Given the description of an element on the screen output the (x, y) to click on. 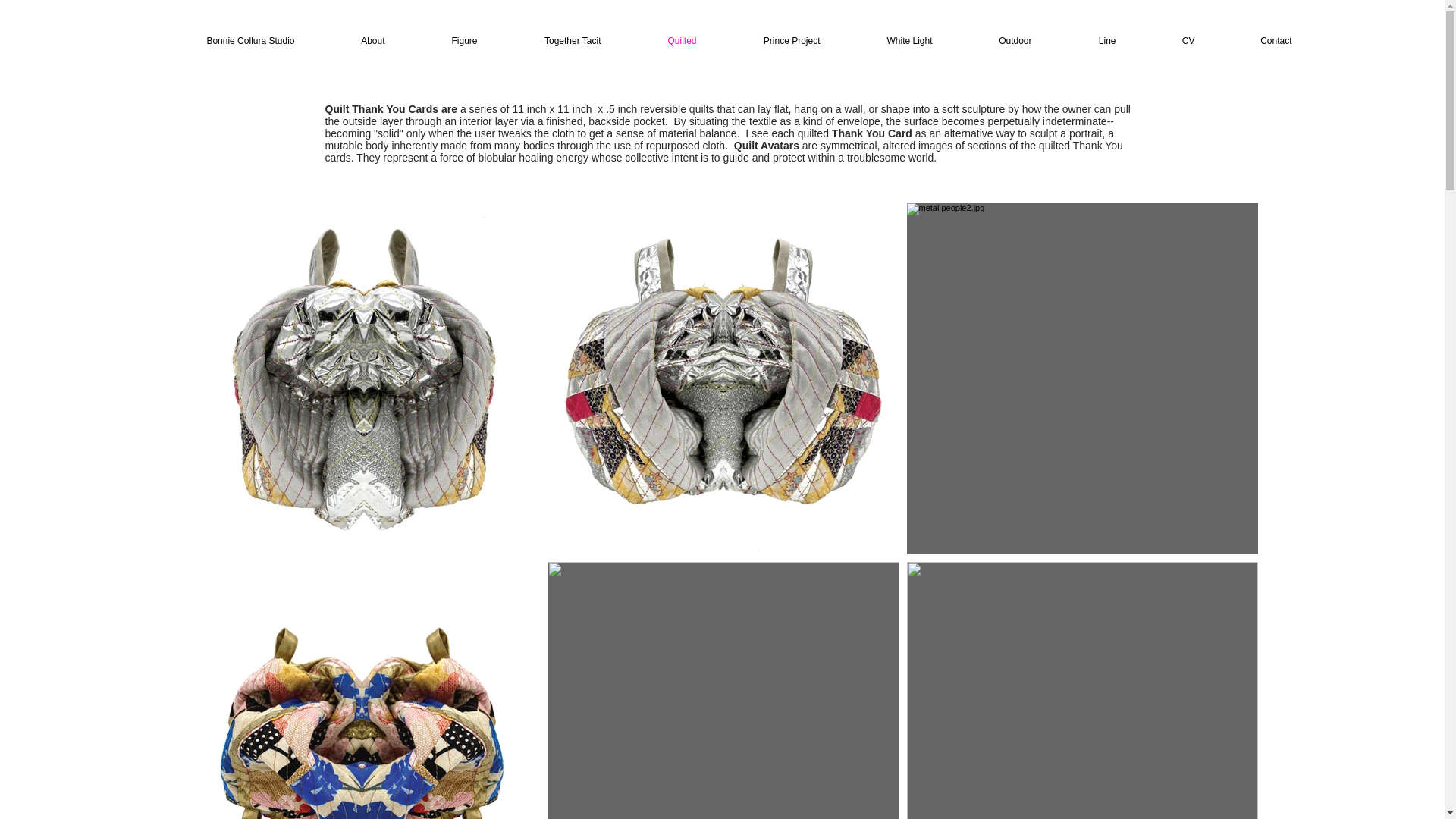
Contact (1255, 40)
Figure (443, 40)
Together Tacit (550, 40)
Bonnie Collura Studio (229, 40)
Quilted (662, 40)
Prince Project (771, 40)
White Light (888, 40)
Outdoor (993, 40)
About (352, 40)
CV (1167, 40)
